Given the description of an element on the screen output the (x, y) to click on. 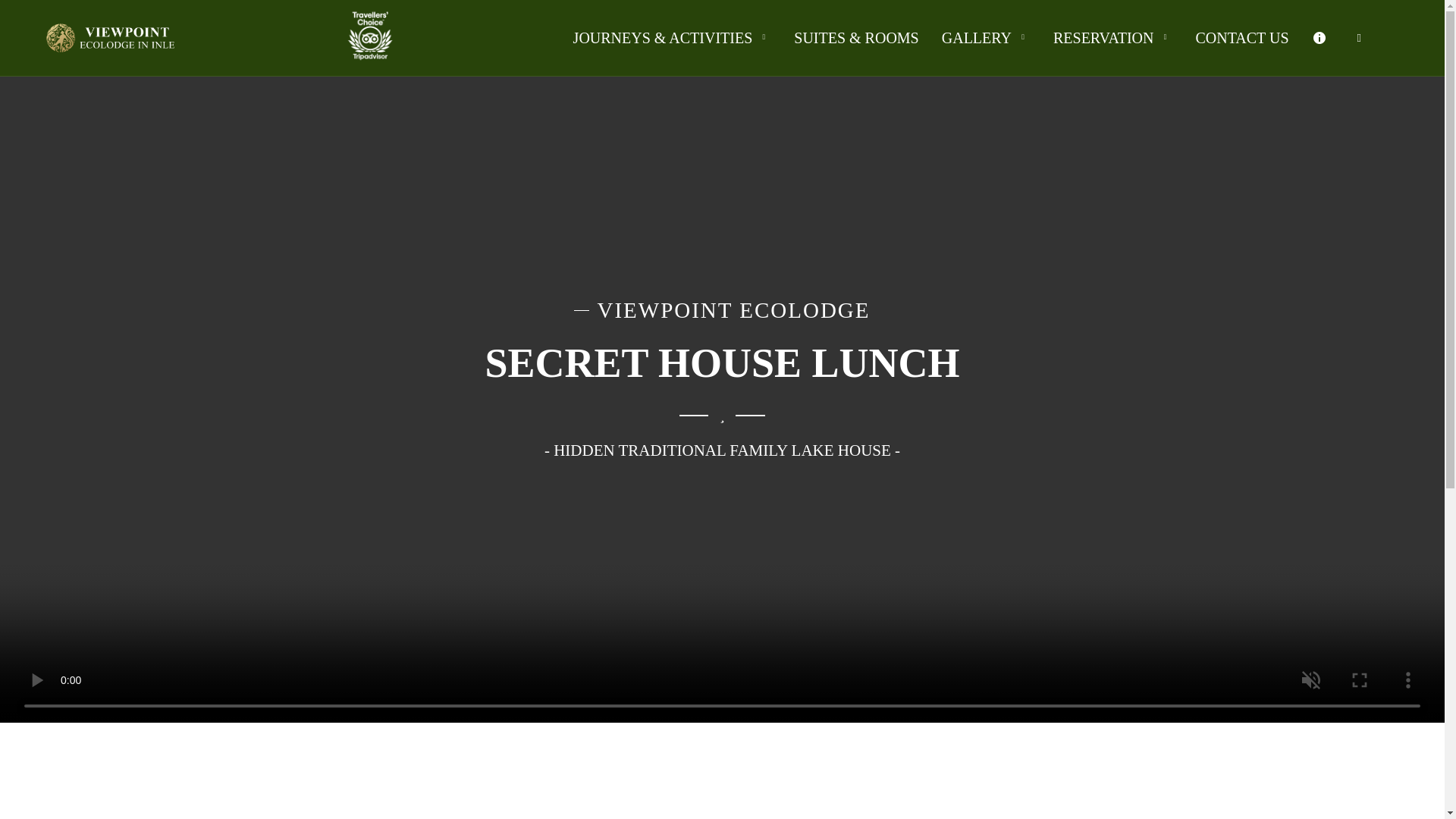
RESERVATION (1113, 38)
CONTACT US (1241, 38)
GALLERY (986, 38)
Reserve (1113, 38)
